Given the description of an element on the screen output the (x, y) to click on. 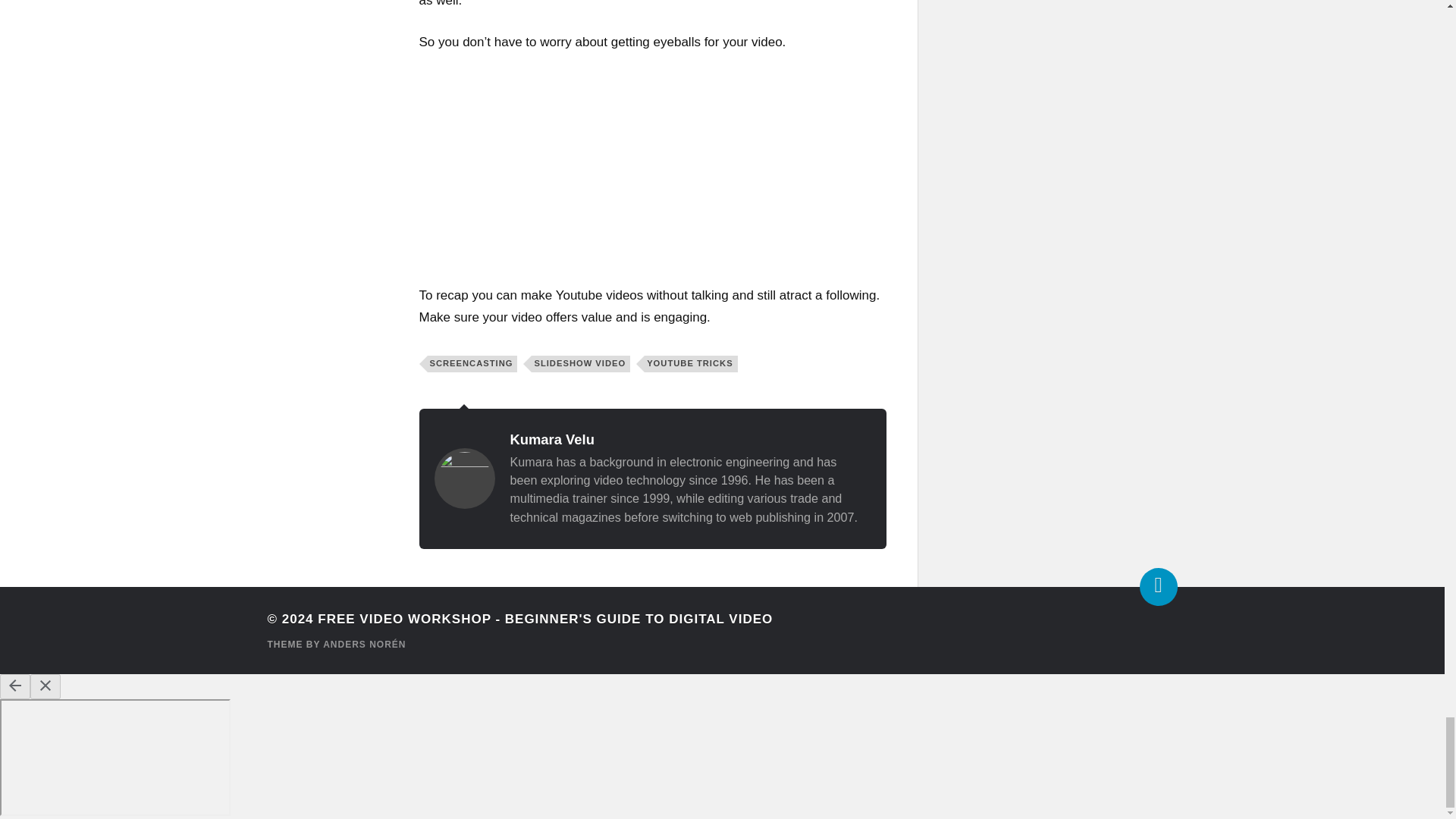
SCREENCASTING (473, 363)
YOUTUBE TRICKS (690, 363)
SLIDESHOW VIDEO (580, 363)
